Given the description of an element on the screen output the (x, y) to click on. 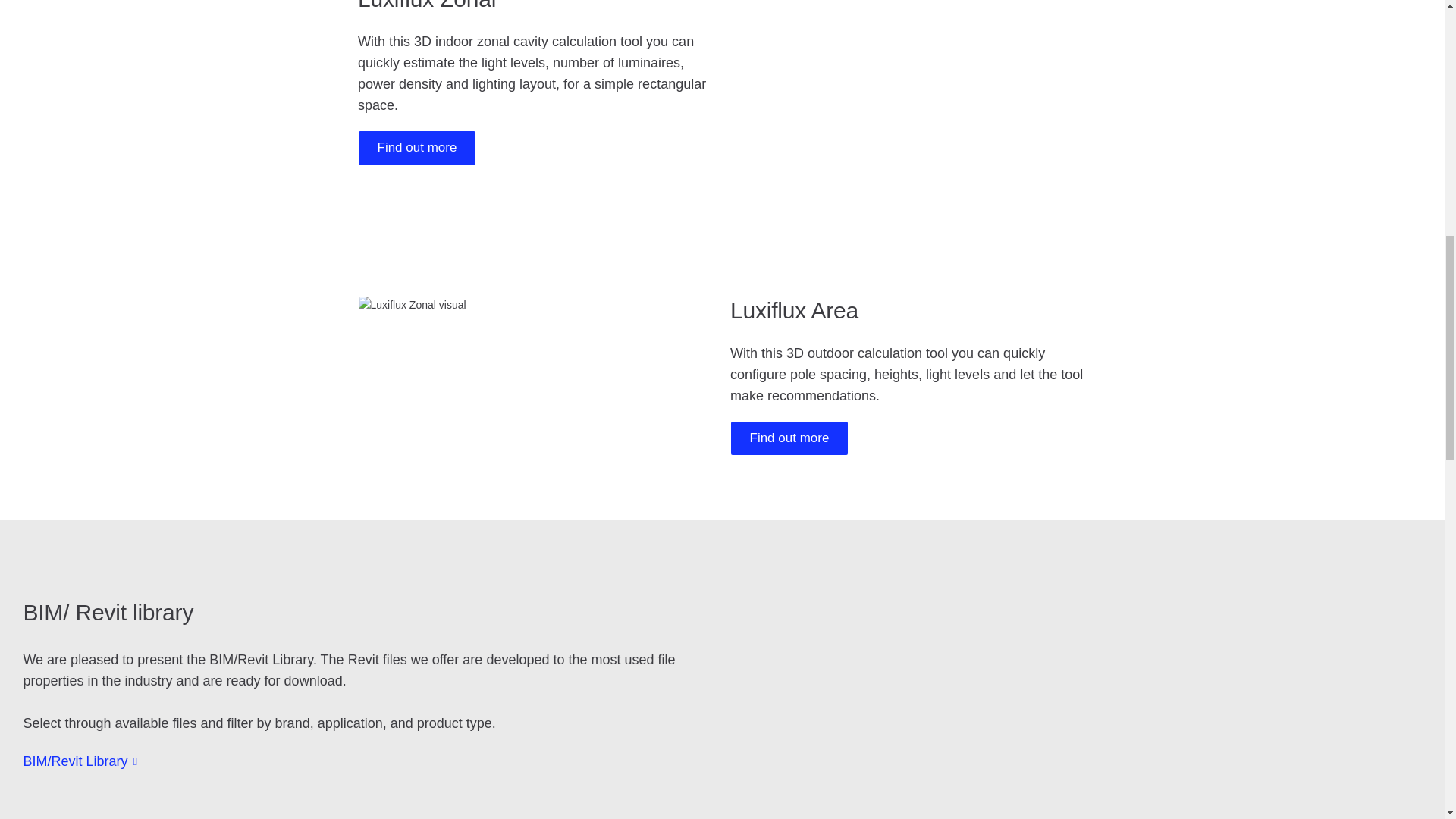
Find out more (417, 147)
Find out more (789, 438)
